Given the description of an element on the screen output the (x, y) to click on. 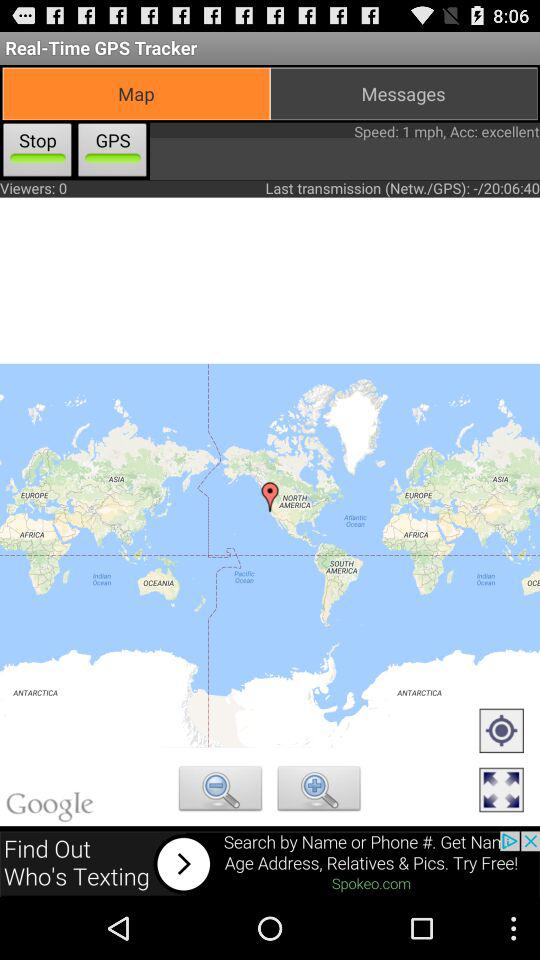
open full screen view (501, 791)
